Given the description of an element on the screen output the (x, y) to click on. 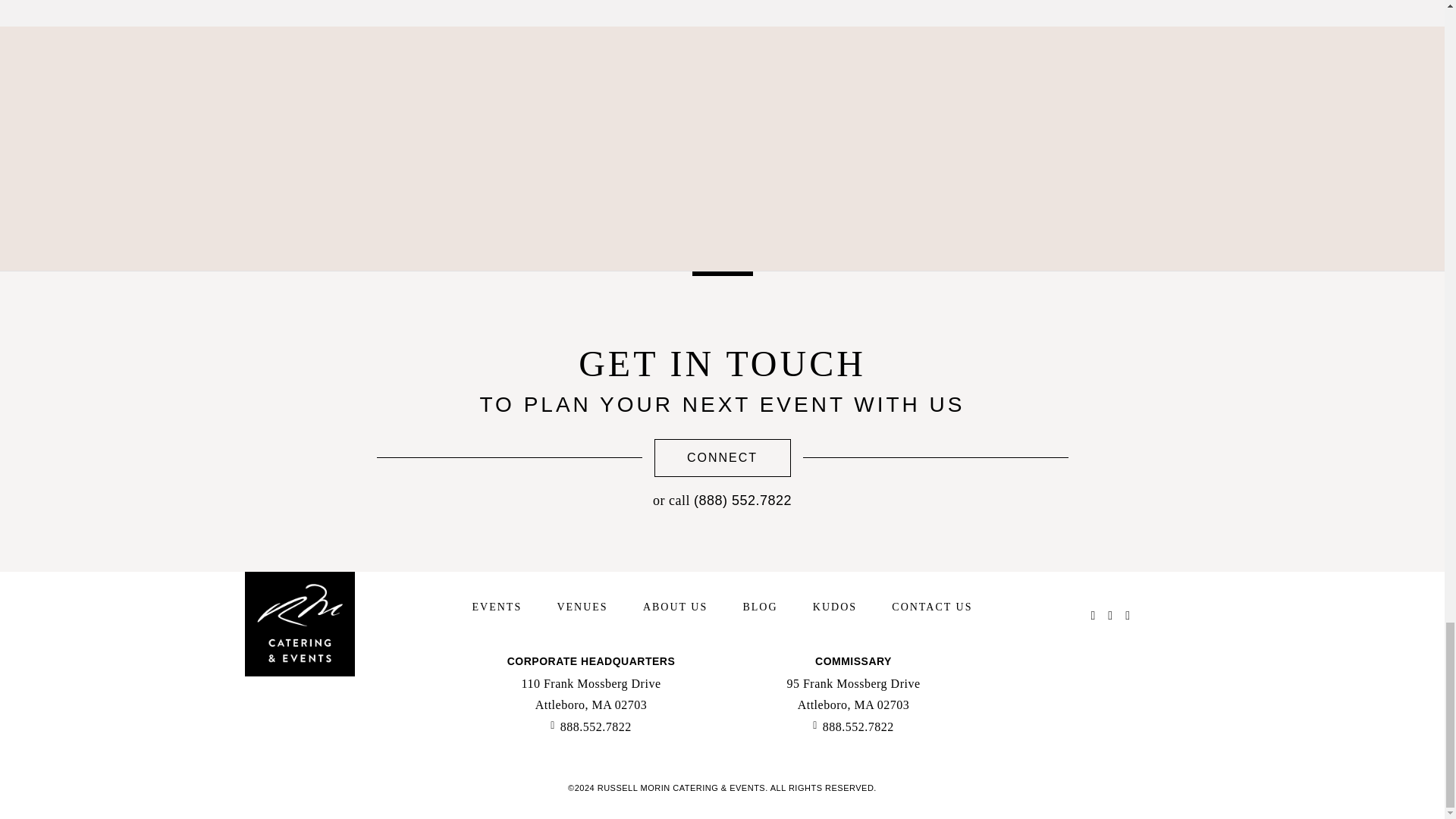
ABOUT US (675, 606)
BLOG (759, 606)
CONNECT (721, 457)
888.552.7822 (590, 726)
VENUES (581, 606)
CONTACT US (931, 606)
888.552.7822 (852, 726)
EVENTS (496, 606)
KUDOS (834, 606)
